Given the description of an element on the screen output the (x, y) to click on. 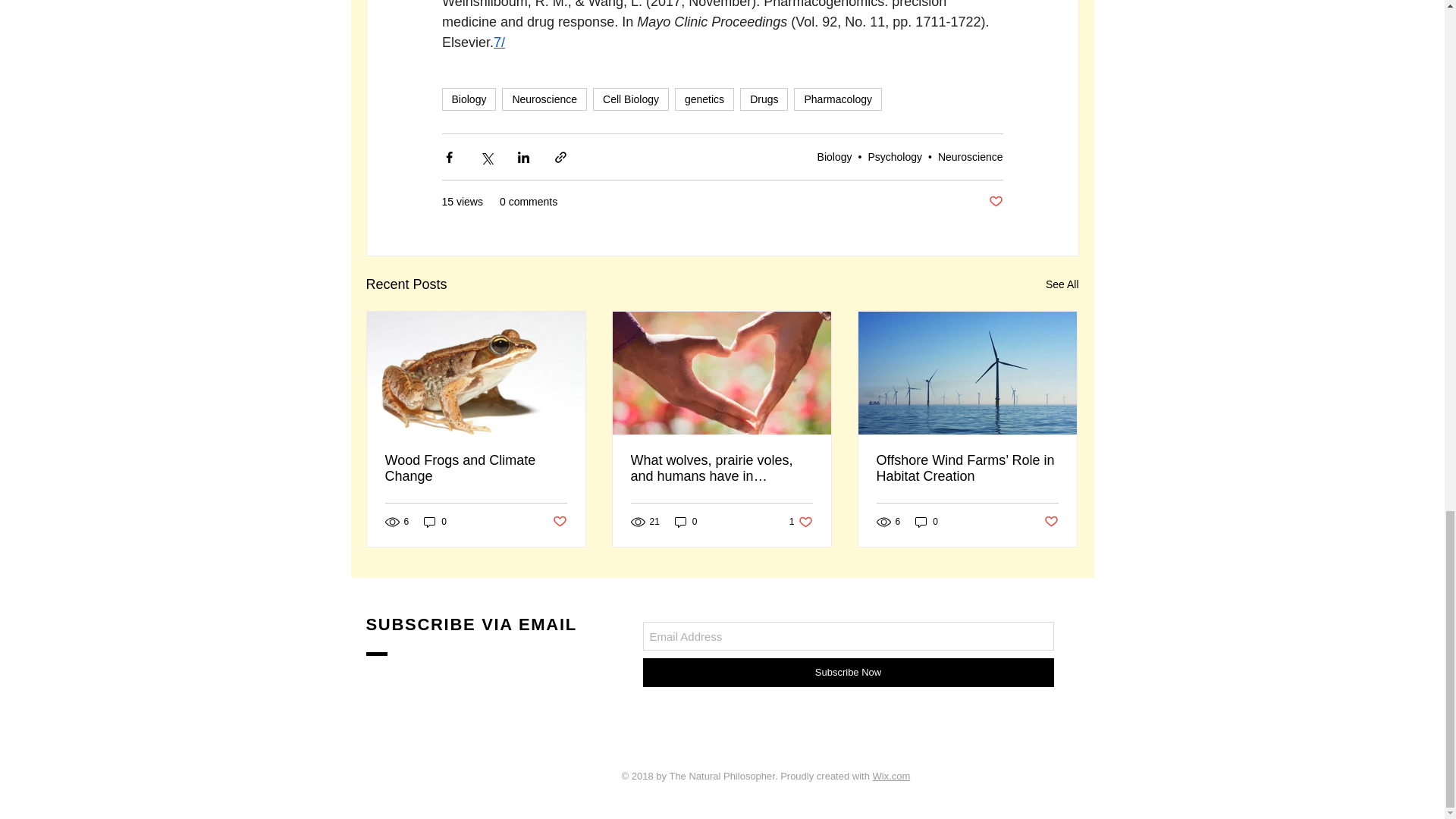
Neuroscience (544, 98)
genetics (704, 98)
Pharmacology (837, 98)
Biology (468, 98)
Drugs (763, 98)
Cell Biology (630, 98)
